Given the description of an element on the screen output the (x, y) to click on. 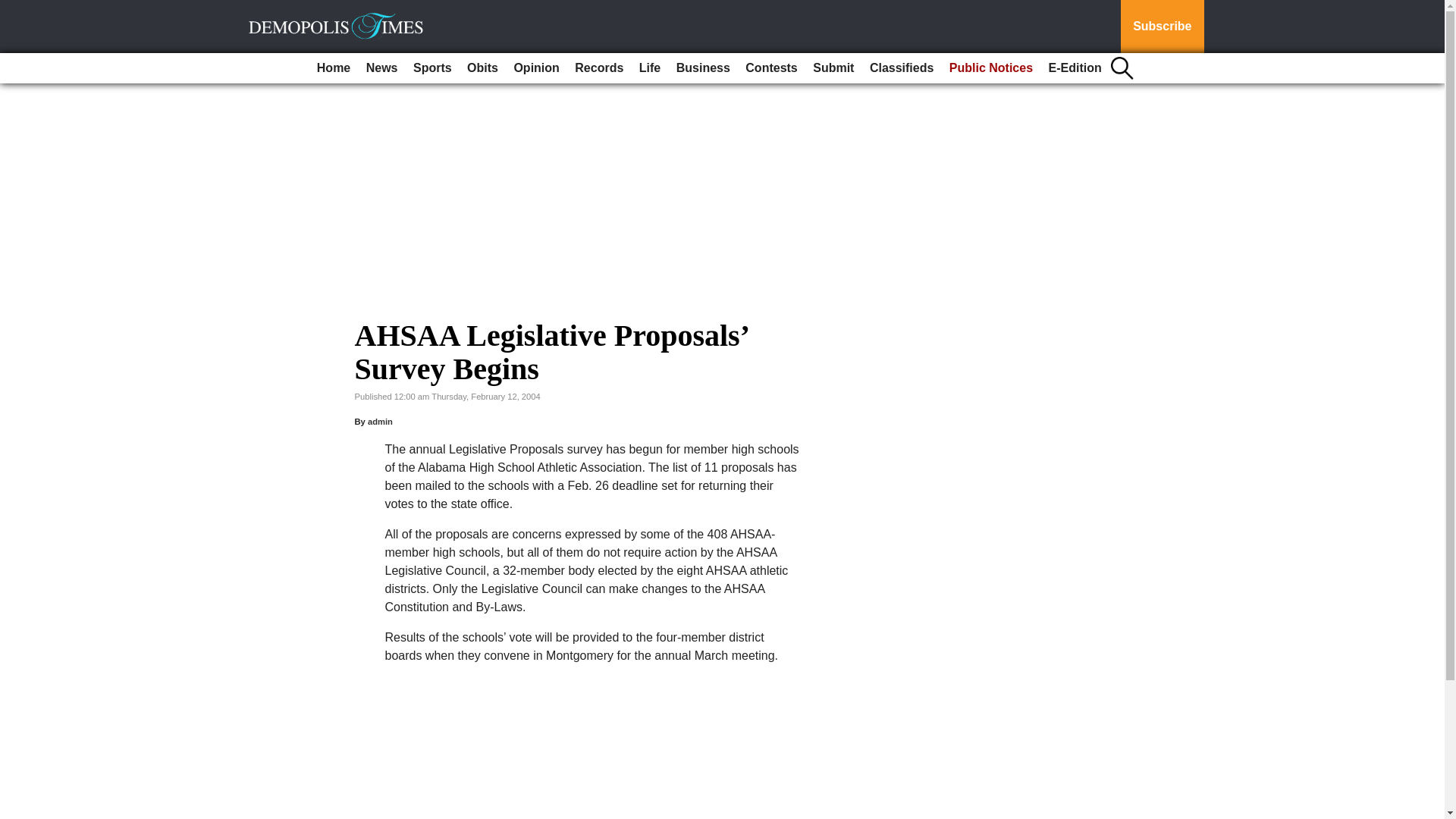
Home (333, 68)
Submit (833, 68)
Go (13, 9)
Records (598, 68)
Contests (771, 68)
Opinion (535, 68)
Life (649, 68)
News (381, 68)
admin (380, 420)
Classifieds (901, 68)
Obits (482, 68)
Business (702, 68)
Public Notices (991, 68)
Subscribe (1162, 26)
E-Edition (1075, 68)
